Given the description of an element on the screen output the (x, y) to click on. 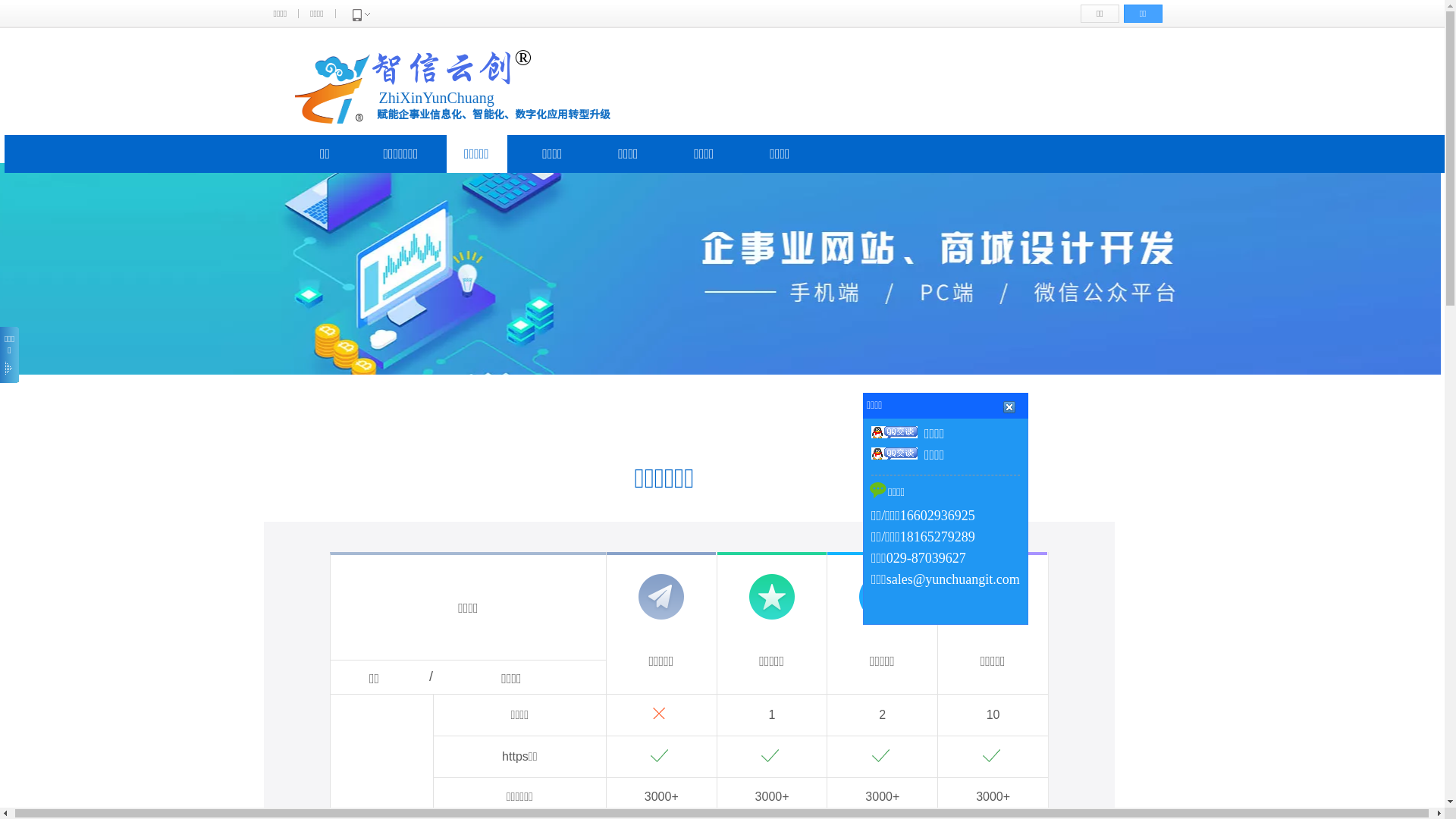
  Element type: text (1074, 466)
